Given the description of an element on the screen output the (x, y) to click on. 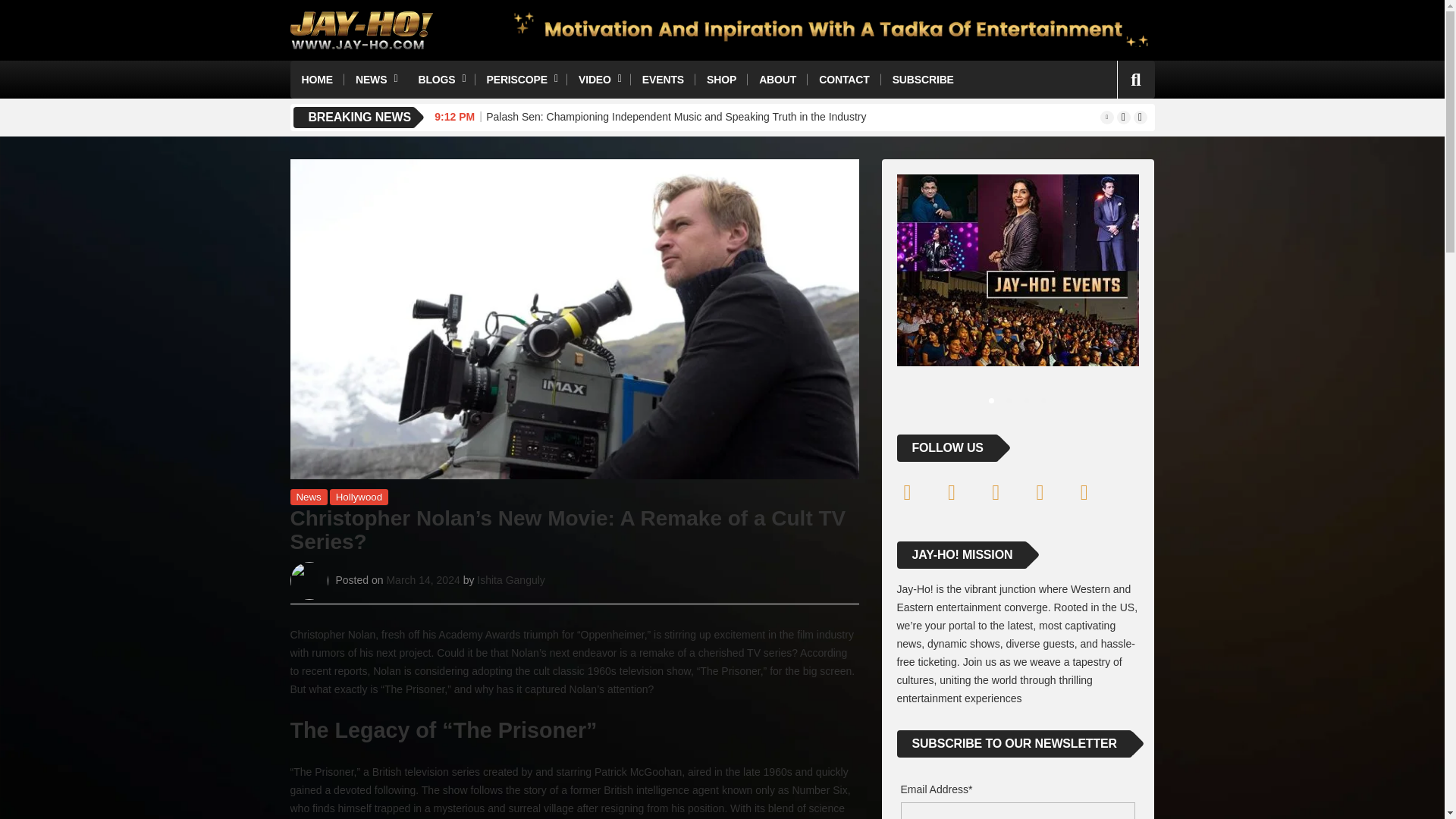
ABOUT (778, 79)
BLOGS (440, 79)
PERISCOPE (520, 79)
NEWS (374, 79)
EVENTS (662, 79)
HOME (316, 79)
CONTACT (844, 79)
VIDEO (598, 79)
SHOP (721, 79)
